Given the description of an element on the screen output the (x, y) to click on. 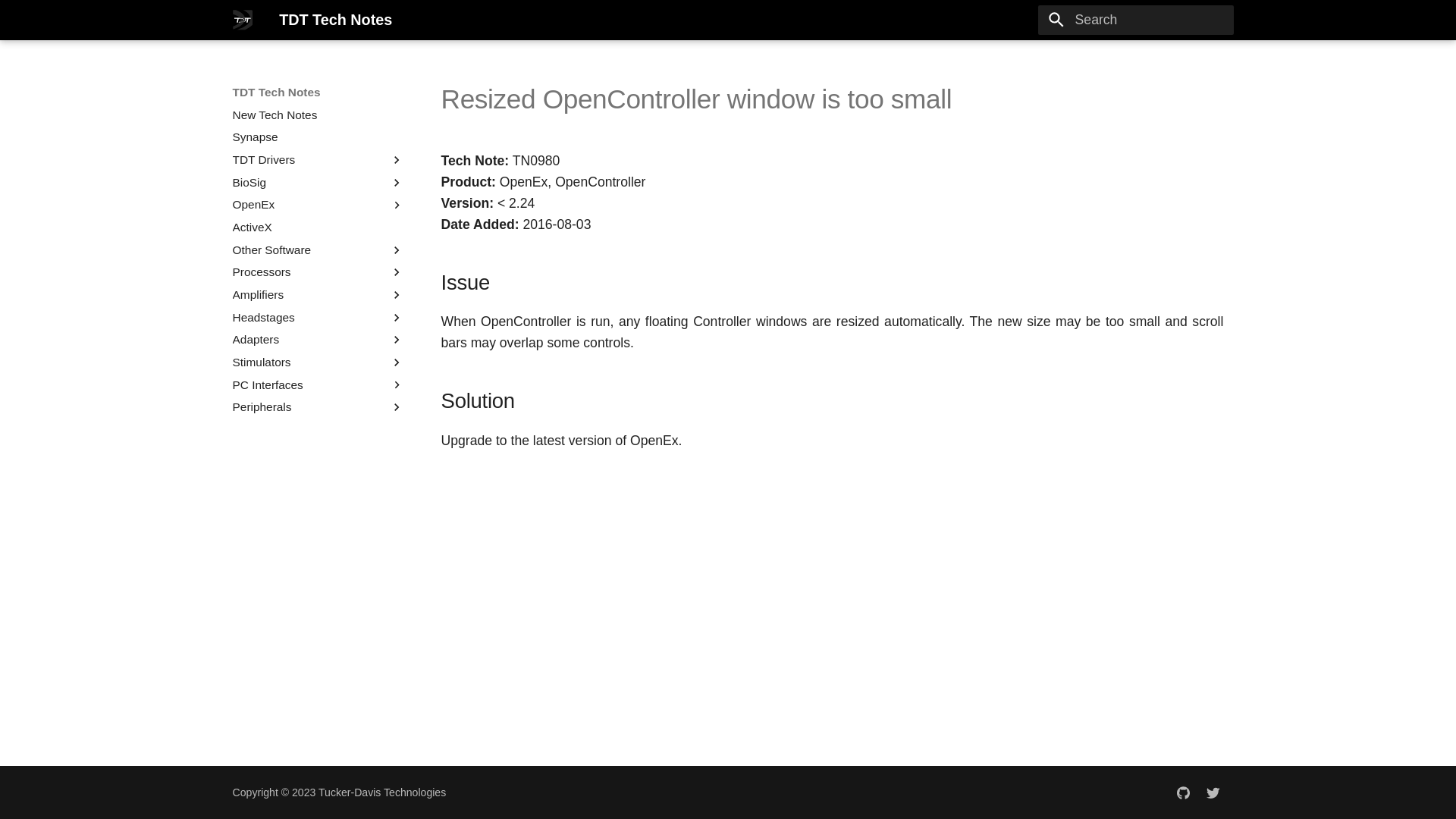
Synapse (318, 136)
OpenEx (311, 204)
ActiveX (318, 227)
TDT Drivers (311, 159)
New Tech Notes (318, 114)
github.com (1183, 791)
twitter.com (1213, 791)
TDT Tech Notes (242, 19)
